Given the description of an element on the screen output the (x, y) to click on. 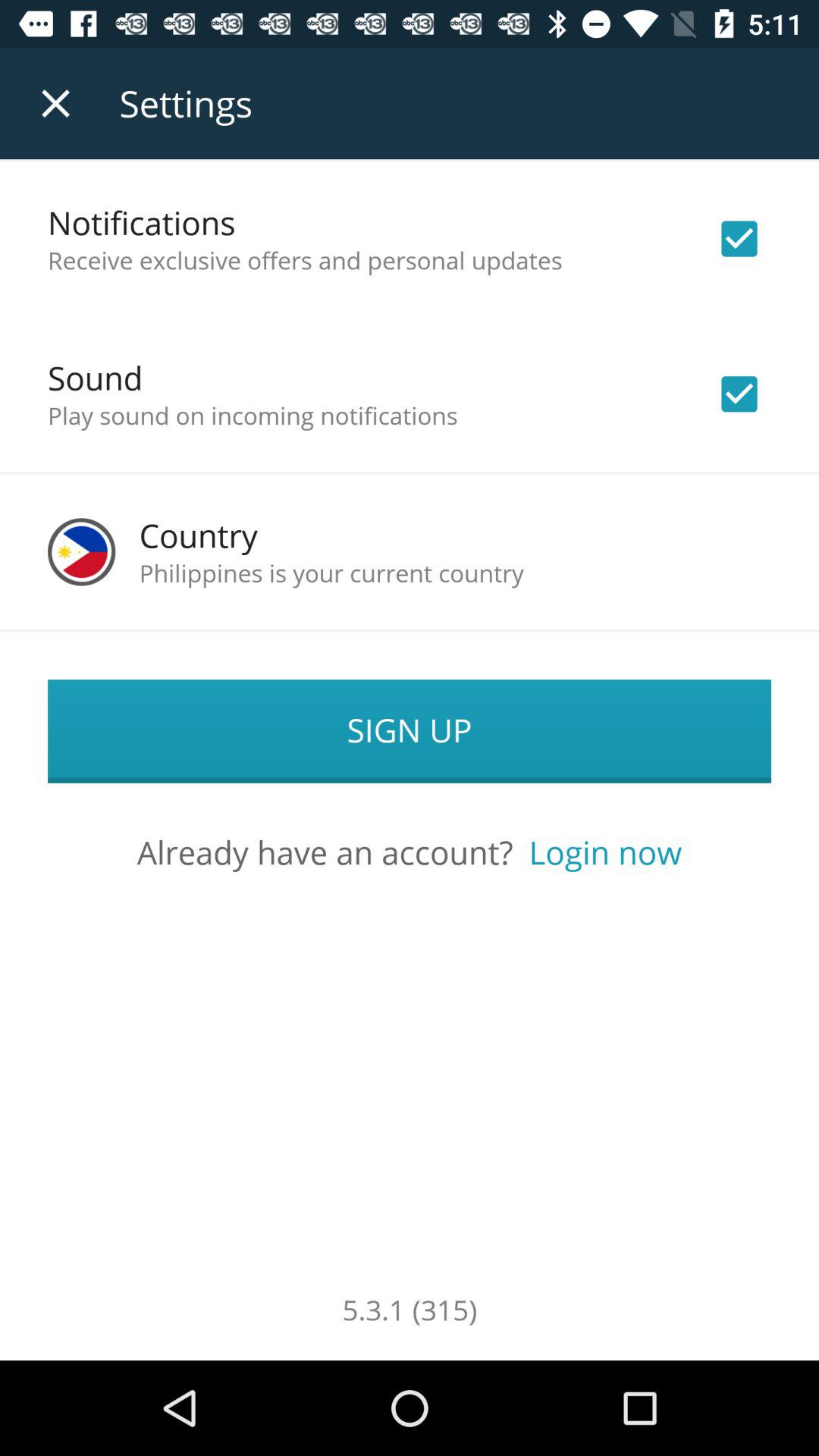
click the icon next to already have an icon (604, 851)
